Given the description of an element on the screen output the (x, y) to click on. 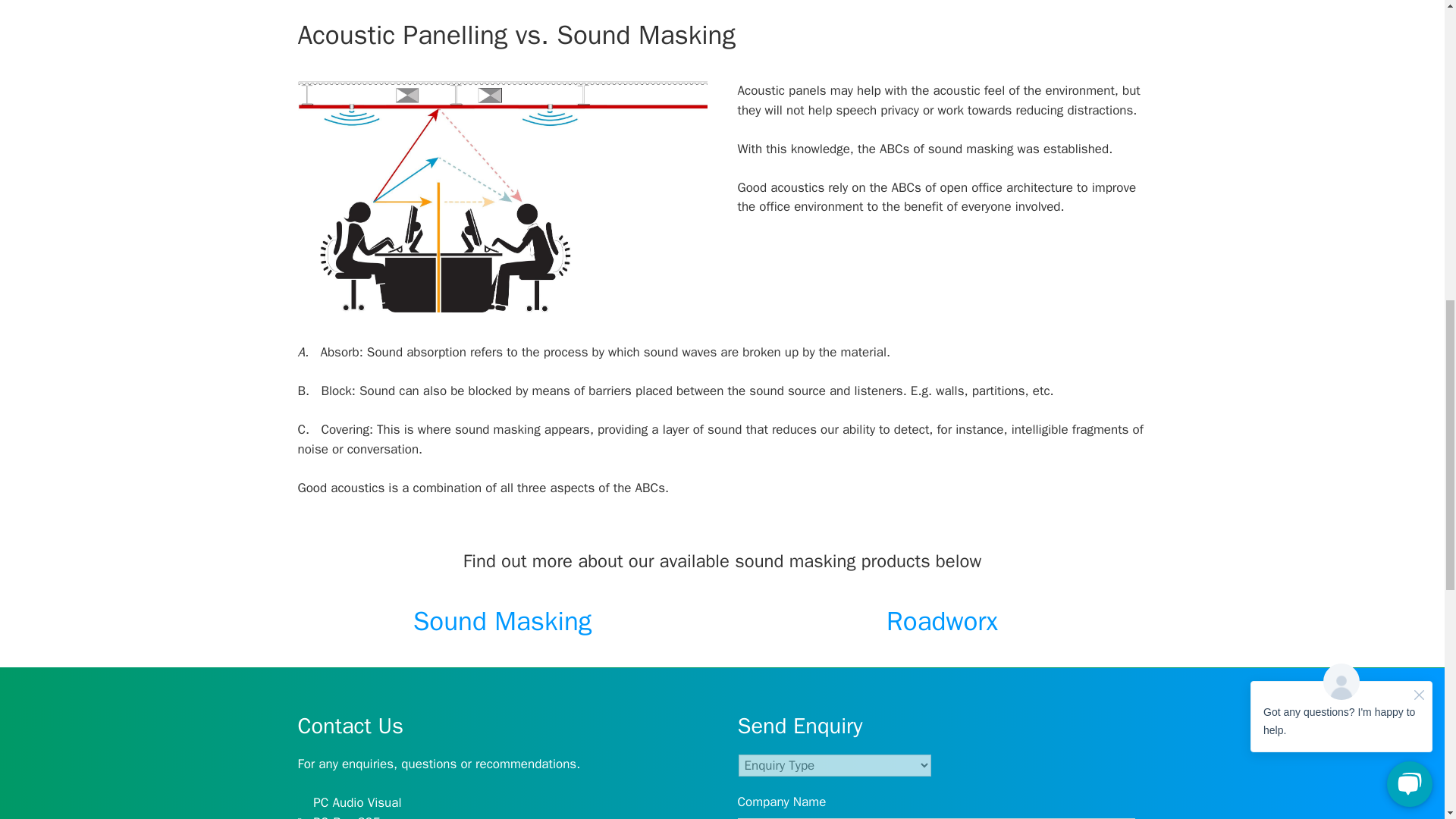
Roadworx (941, 621)
Sound Masking (502, 621)
